Given the description of an element on the screen output the (x, y) to click on. 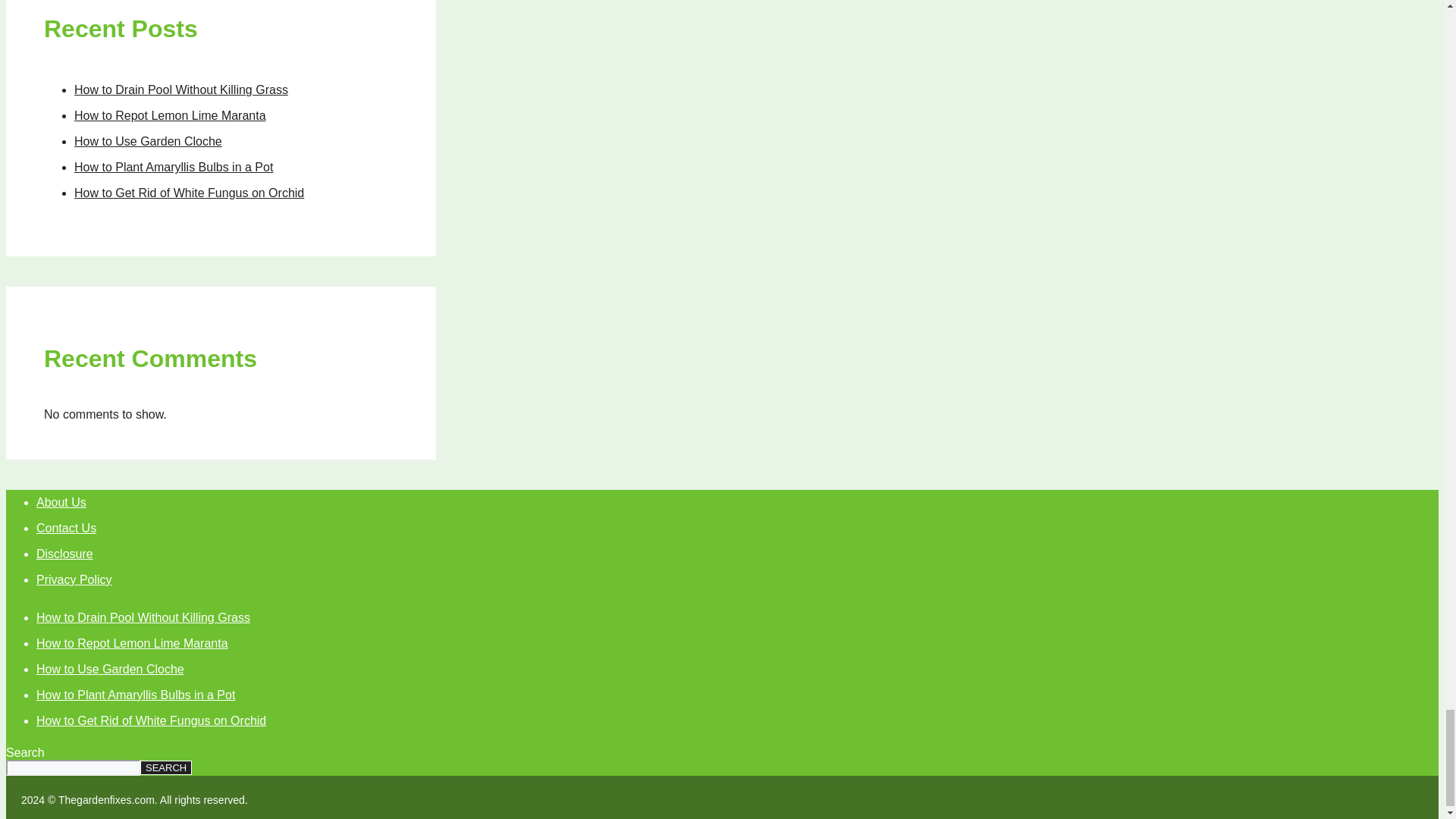
How to Get Rid of White Fungus on Orchid (189, 192)
How to Drain Pool Without Killing Grass (143, 617)
SEARCH (165, 767)
Disclosure (64, 553)
Contact Us (66, 527)
How to Repot Lemon Lime Maranta (170, 115)
Privacy Policy (74, 579)
About Us (60, 502)
How to Drain Pool Without Killing Grass (181, 89)
How to Plant Amaryllis Bulbs in a Pot (135, 694)
